Given the description of an element on the screen output the (x, y) to click on. 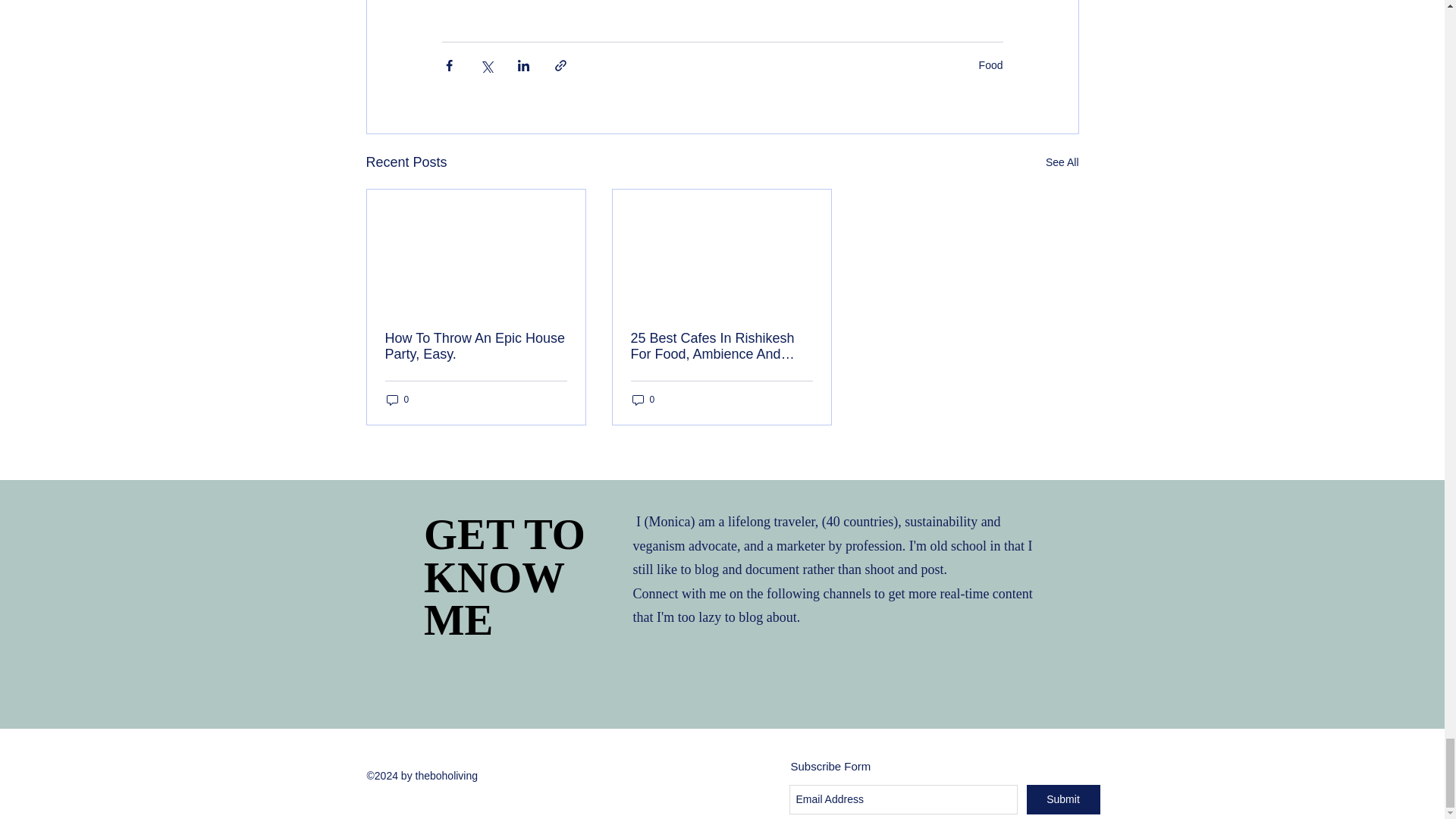
How To Throw An Epic House Party, Easy. (476, 346)
0 (643, 400)
See All (1061, 162)
Submit (1063, 798)
Food (990, 64)
0 (501, 581)
